Given the description of an element on the screen output the (x, y) to click on. 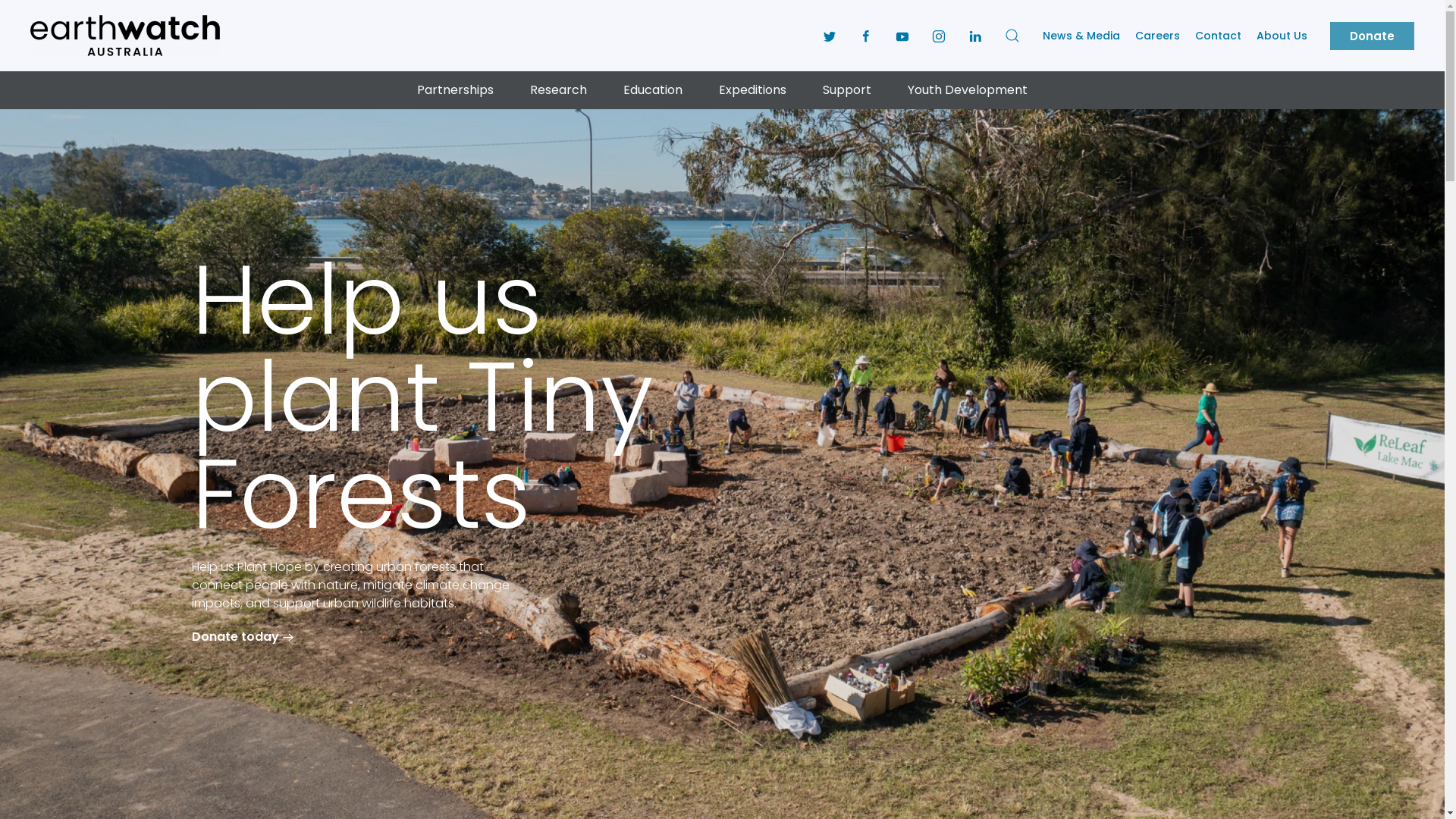
Research Element type: text (558, 90)
Donate today Element type: text (244, 636)
Contact Element type: text (1218, 35)
Support Element type: text (846, 90)
About Us Element type: text (1281, 35)
Careers Element type: text (1157, 35)
Partnerships Element type: text (455, 90)
News & Media Element type: text (1081, 35)
Donate Element type: text (1372, 35)
Expeditions Element type: text (752, 90)
Youth Development Element type: text (967, 90)
Education Element type: text (652, 90)
